Given the description of an element on the screen output the (x, y) to click on. 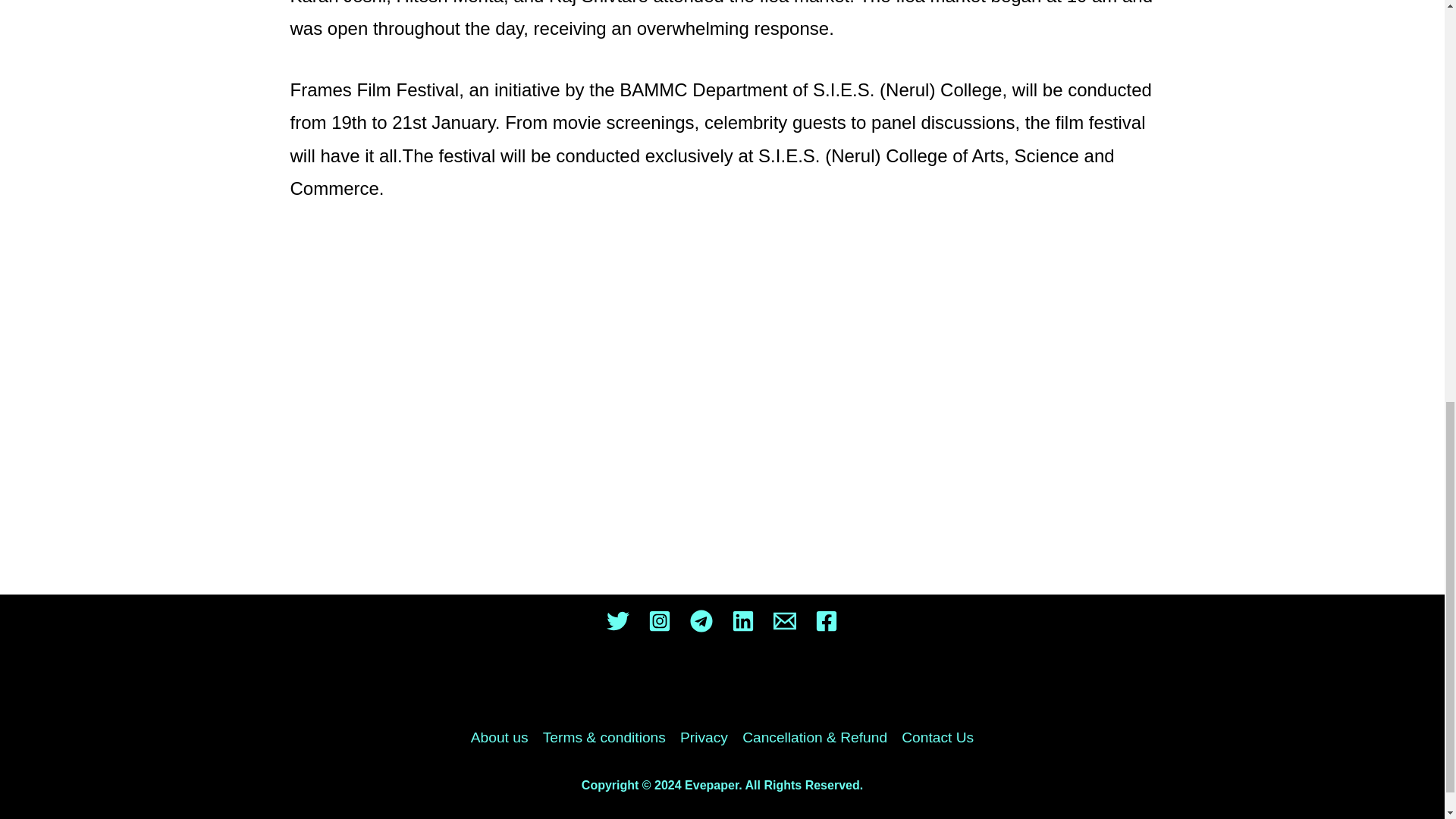
Contact Us (934, 737)
About us (502, 737)
Privacy (703, 737)
